Given the description of an element on the screen output the (x, y) to click on. 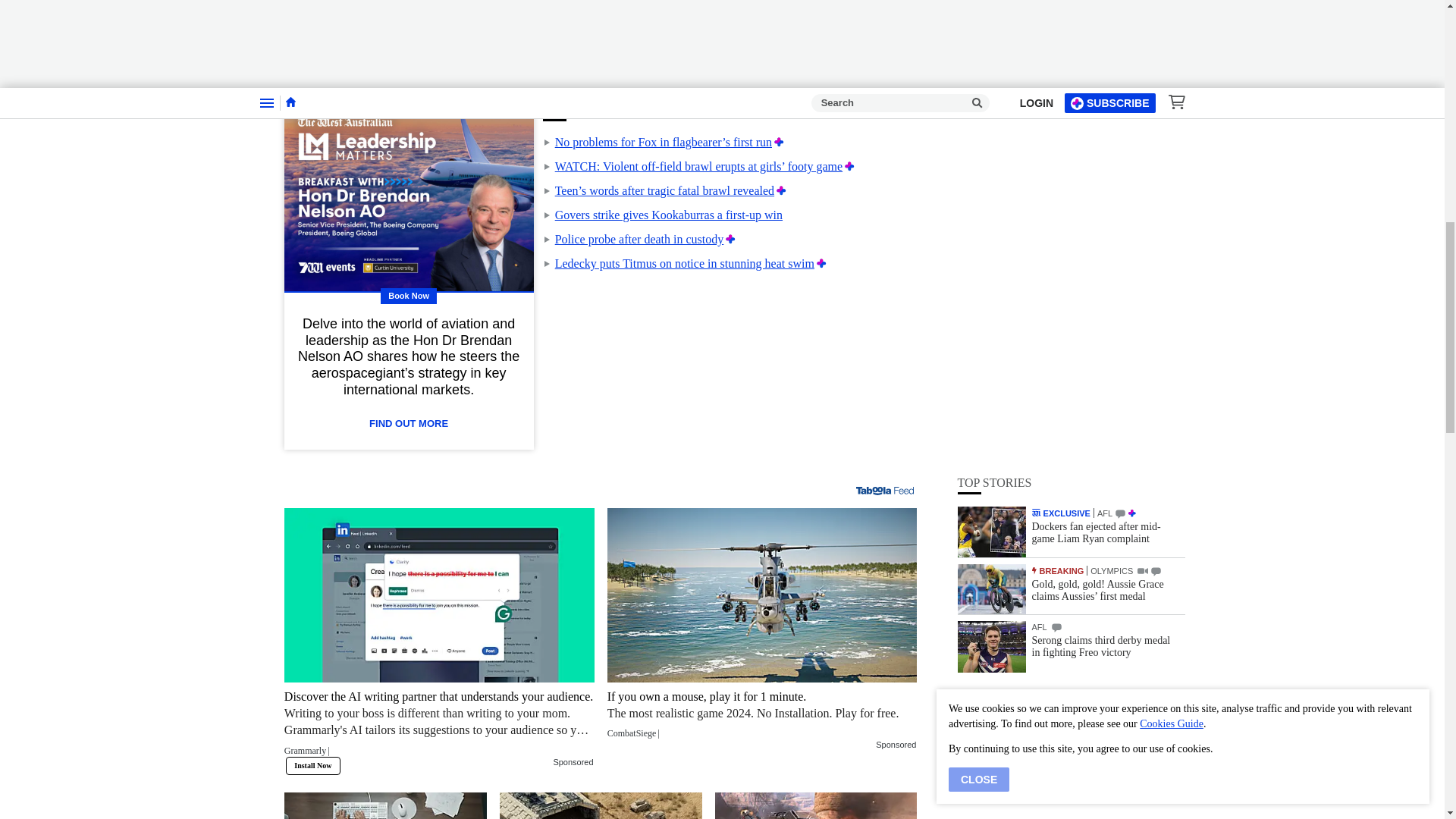
Premium (780, 190)
Premium (849, 165)
COMMENTS (1120, 112)
Premium (821, 263)
THE WEST AUSTRALIAN (1035, 111)
If you own a mouse, play it for 1 minute. (762, 594)
COMMENTS (1155, 169)
If you own a mouse, play it for 1 minute. (762, 713)
Premium (729, 238)
PREMIUM (1131, 112)
